Given the description of an element on the screen output the (x, y) to click on. 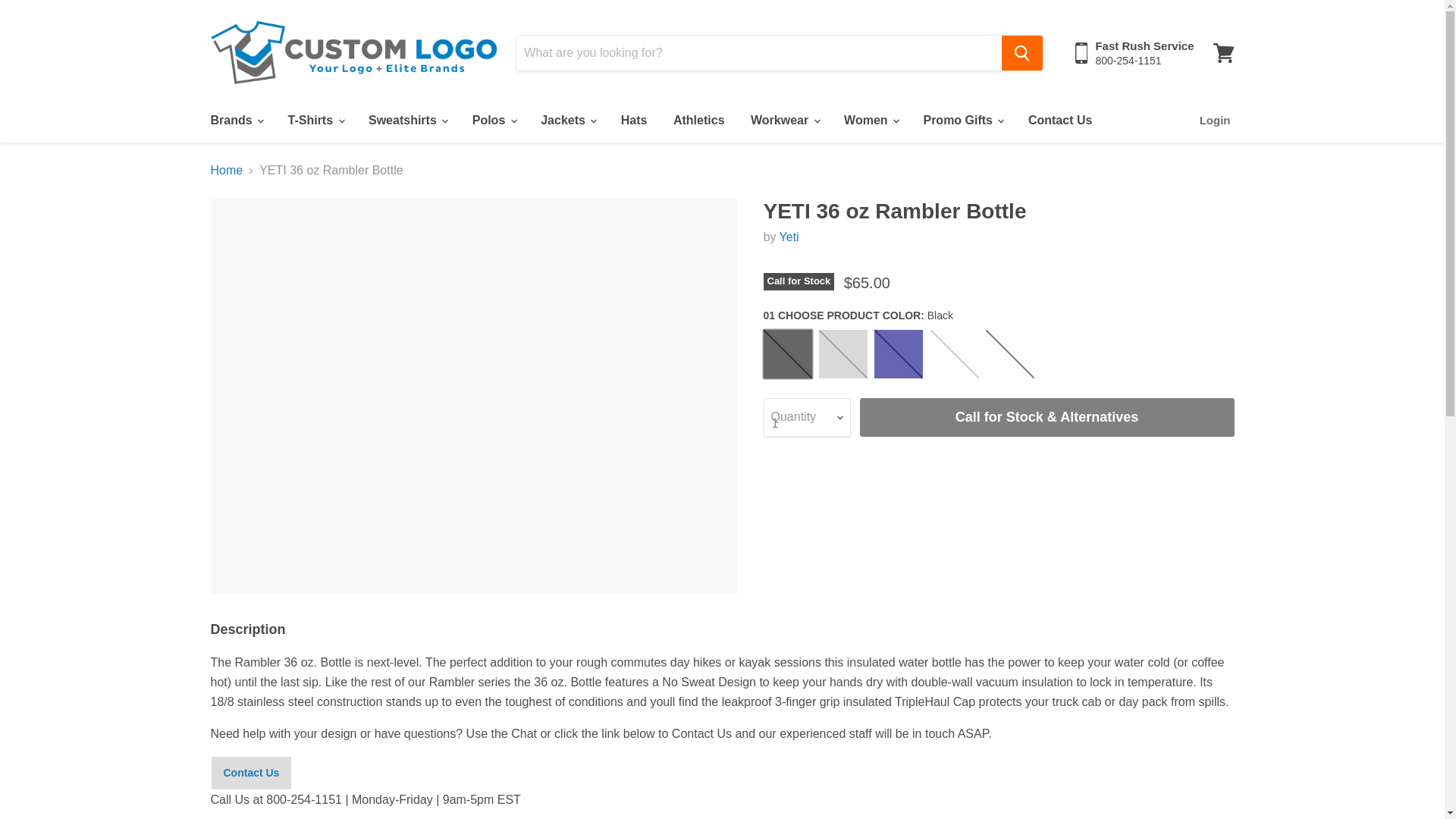
Hats (634, 120)
Brands (235, 120)
View cart (1223, 53)
Polos (493, 120)
Yeti (788, 236)
Jackets (567, 120)
T-Shirts (314, 120)
Contact Us about this Dry Performance T-Shirt (251, 772)
Sweatshirts (406, 120)
